Given the description of an element on the screen output the (x, y) to click on. 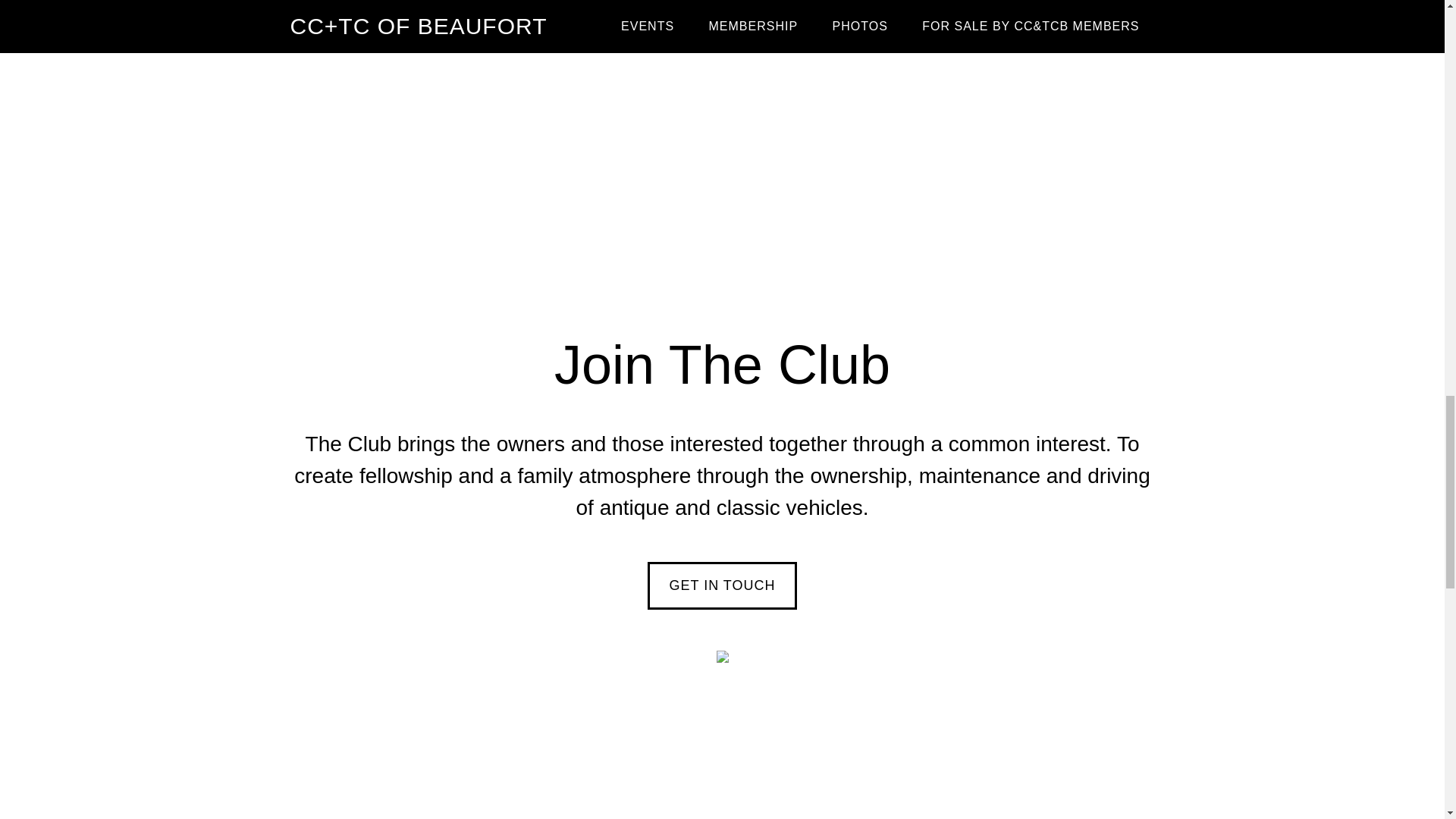
NEWS (668, 18)
EVENTS (767, 18)
GET IN TOUCH (721, 585)
